Given the description of an element on the screen output the (x, y) to click on. 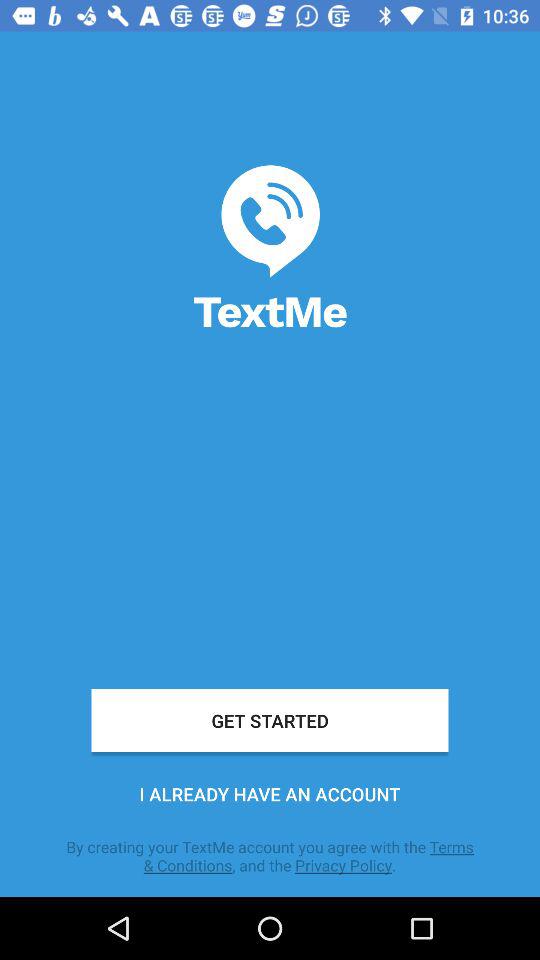
press i already have icon (269, 793)
